Given the description of an element on the screen output the (x, y) to click on. 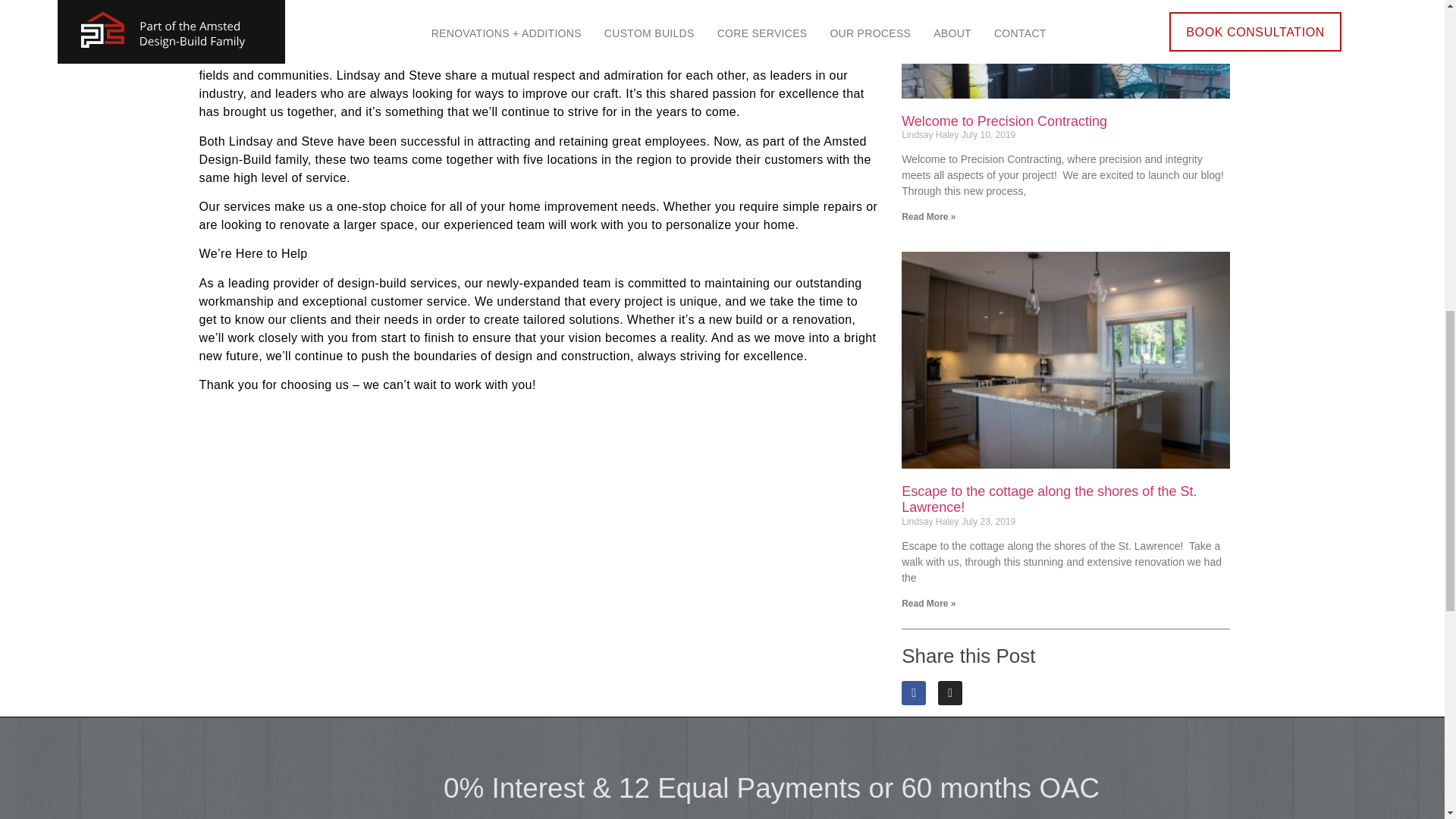
Welcome to Precision Contracting (1003, 120)
Escape to the cottage along the shores of the St. Lawrence! (1048, 499)
